Given the description of an element on the screen output the (x, y) to click on. 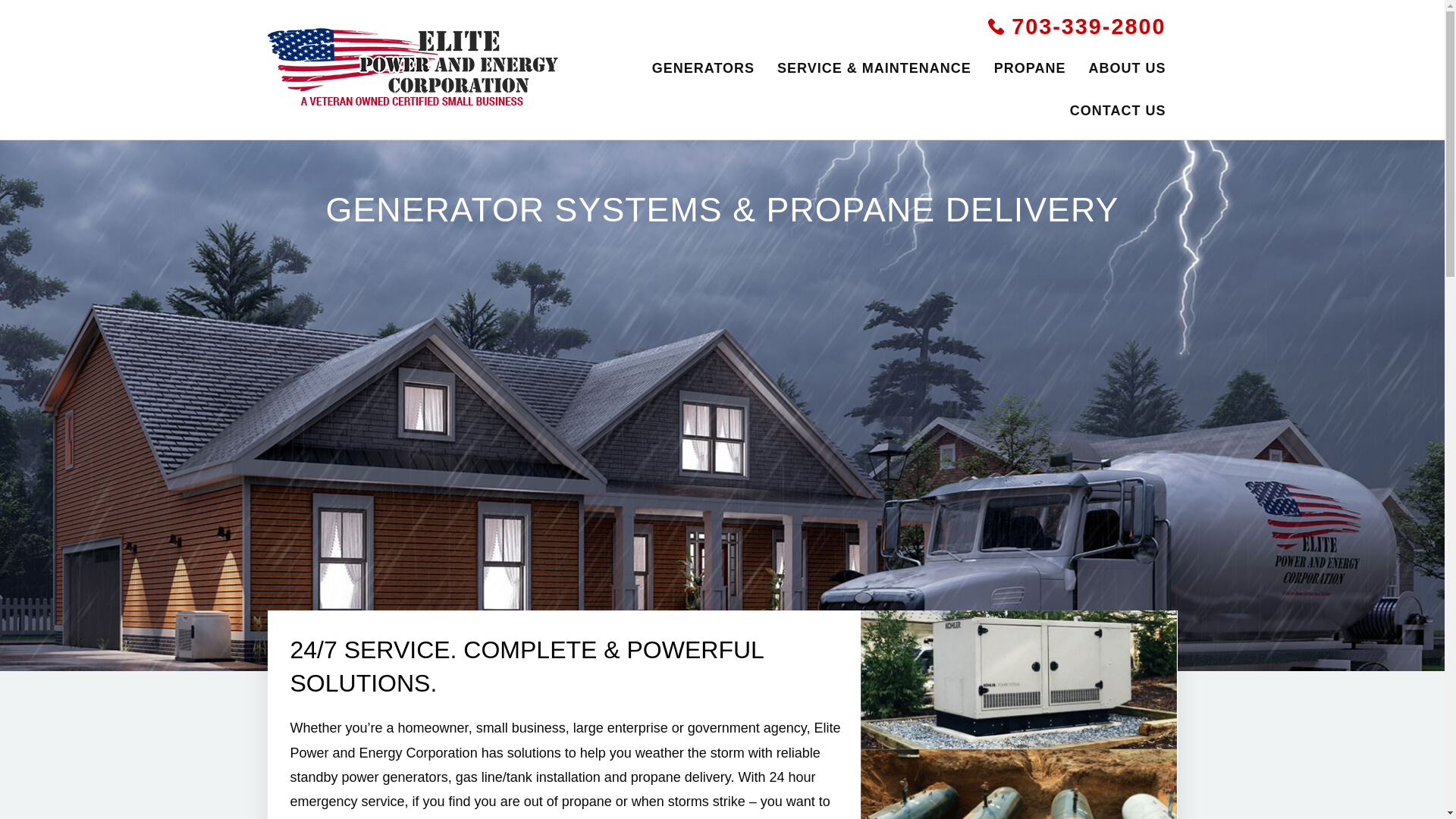
img-1 (1018, 784)
Call us (1076, 27)
GENERATORS (702, 68)
PROPANE (1029, 68)
img-2 (1018, 680)
